Given the description of an element on the screen output the (x, y) to click on. 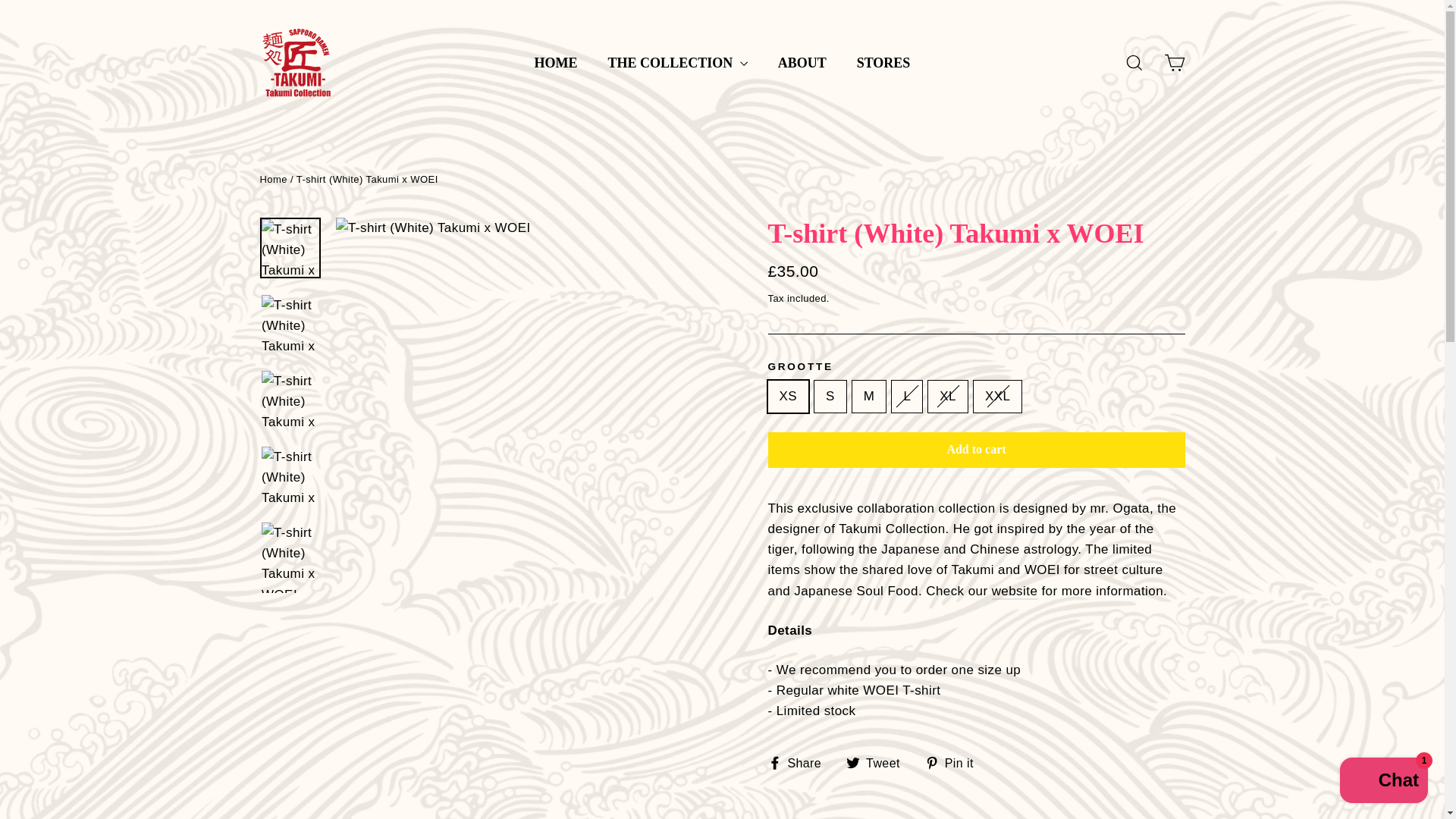
ABOUT (801, 63)
Tweet on Twitter (878, 762)
HOME (555, 63)
THE COLLECTION (677, 63)
Search (1134, 63)
Pin on Pinterest (954, 762)
Home (272, 179)
Shopify online store chat (1383, 781)
Back to the frontpage (272, 179)
Cart (1173, 63)
